Given the description of an element on the screen output the (x, y) to click on. 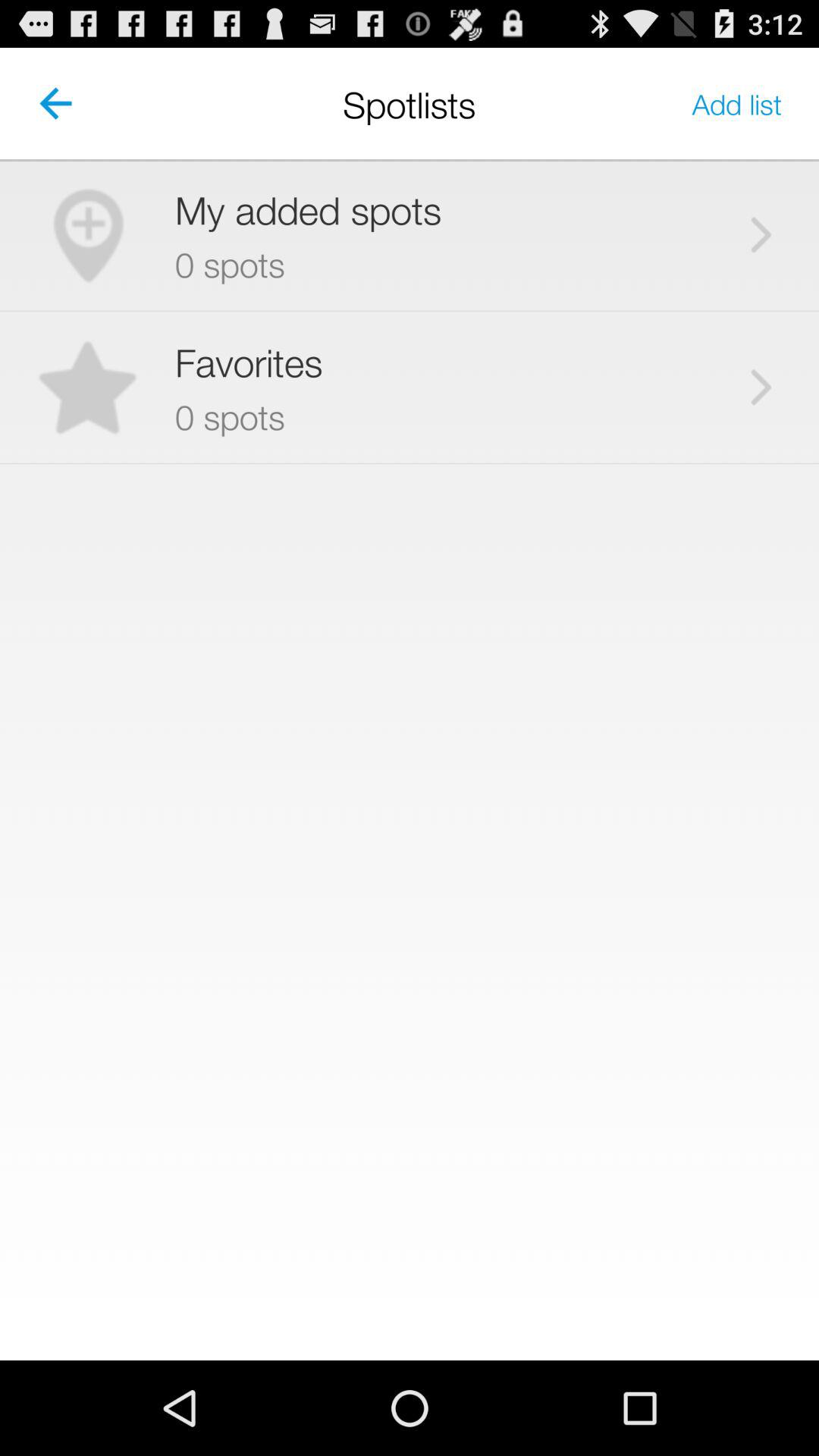
select add list icon (737, 103)
